Given the description of an element on the screen output the (x, y) to click on. 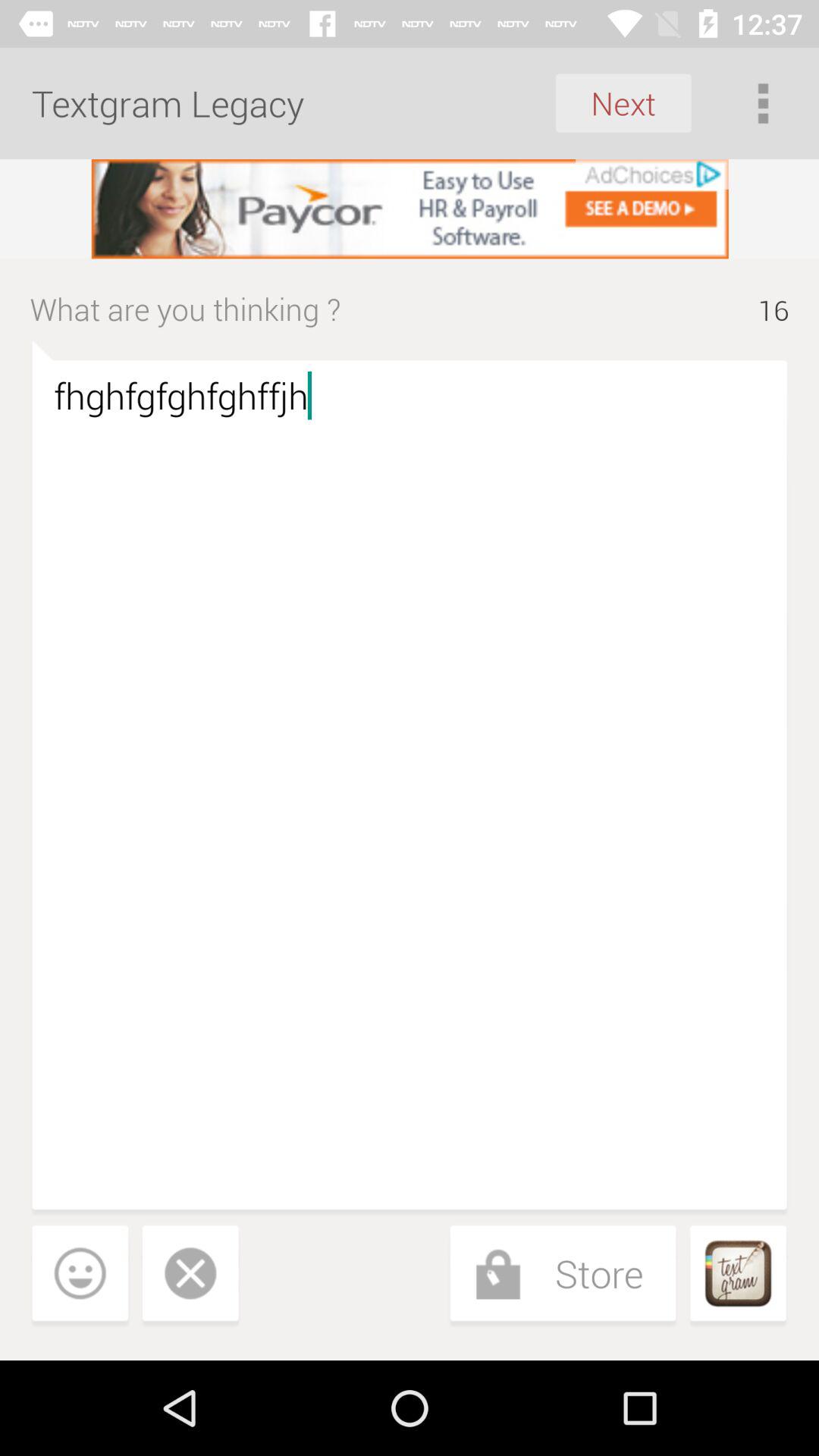
go to textgram home page (738, 1276)
